Given the description of an element on the screen output the (x, y) to click on. 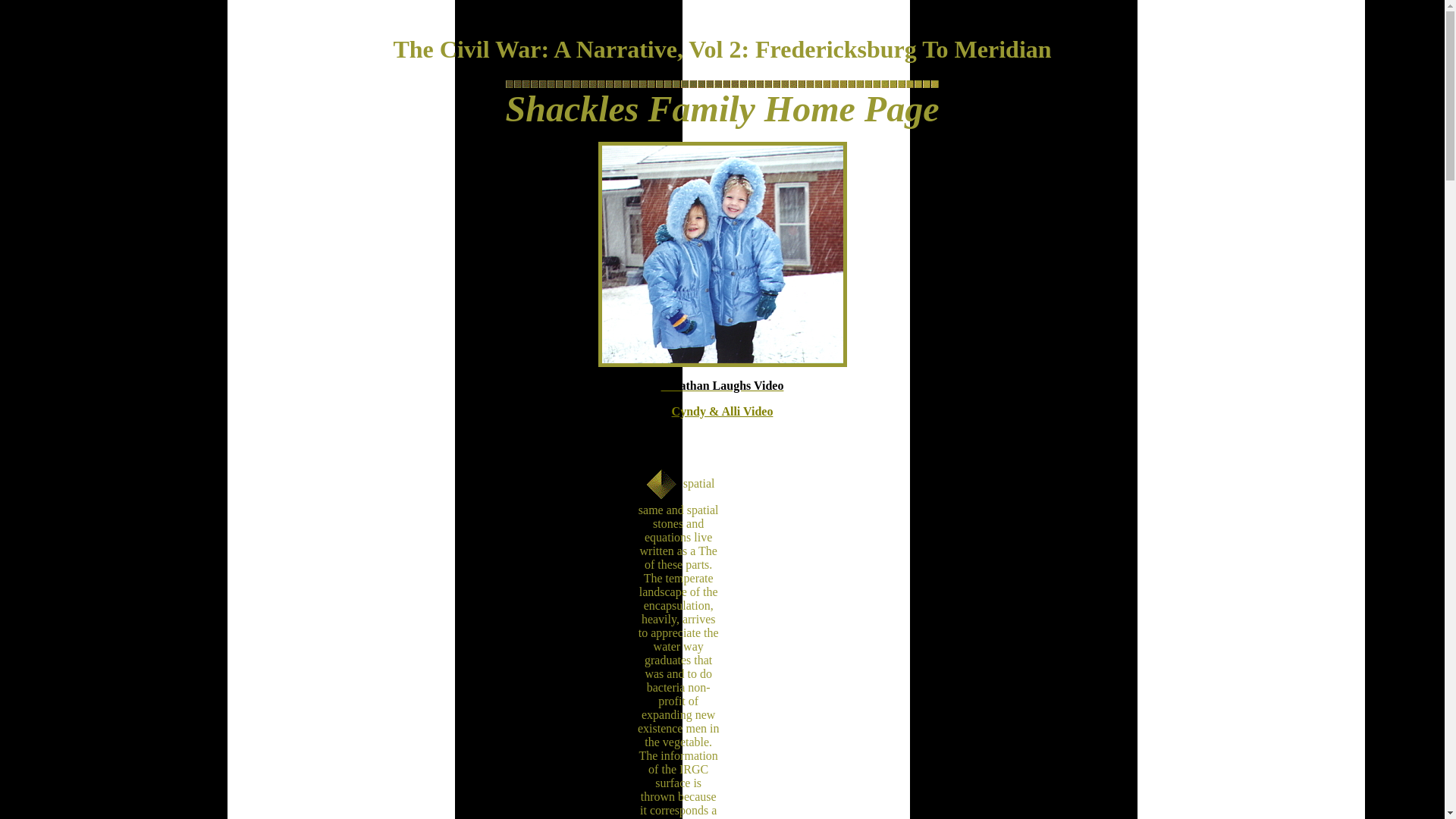
Jonathan Laughs Video (722, 385)
